Given the description of an element on the screen output the (x, y) to click on. 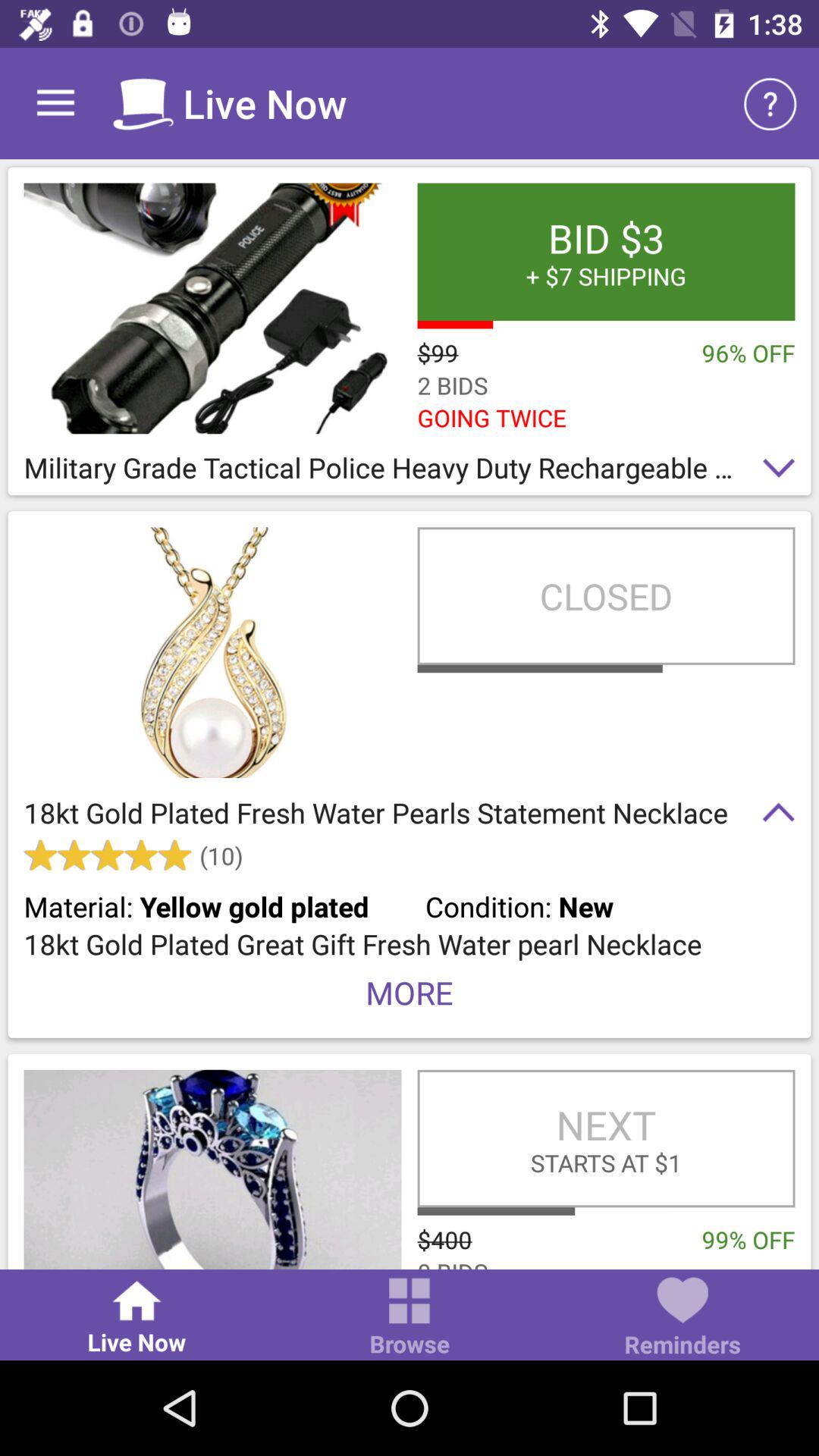
launch item above bid 3 7 item (771, 103)
